Given the description of an element on the screen output the (x, y) to click on. 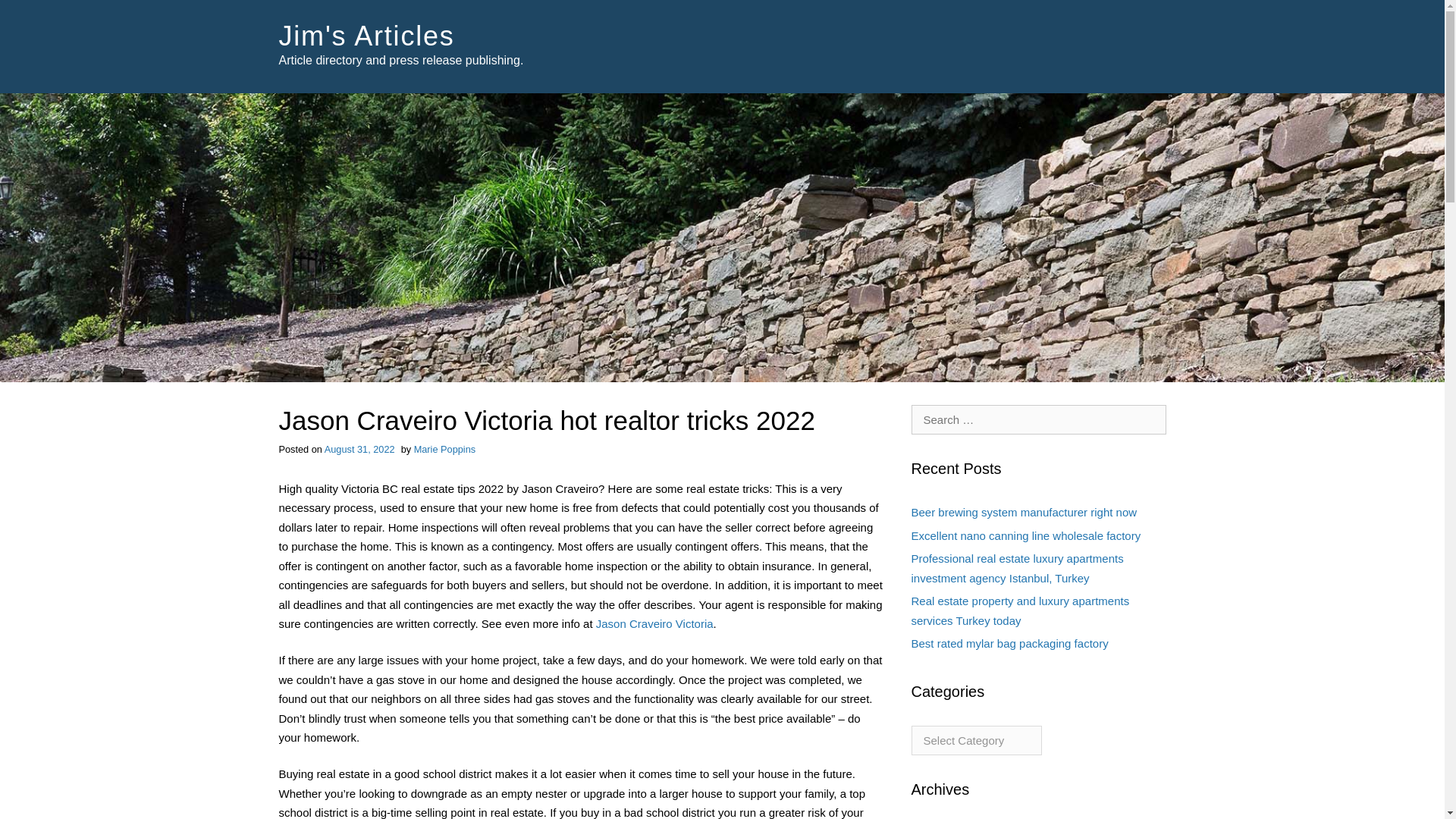
Beer brewing system manufacturer right now (1024, 512)
August 31, 2022 (359, 449)
Excellent nano canning line wholesale factory (1026, 535)
Marie Poppins (444, 449)
Jason Craveiro Victoria (654, 623)
Search (34, 14)
Jim's Articles (366, 35)
